Given the description of an element on the screen output the (x, y) to click on. 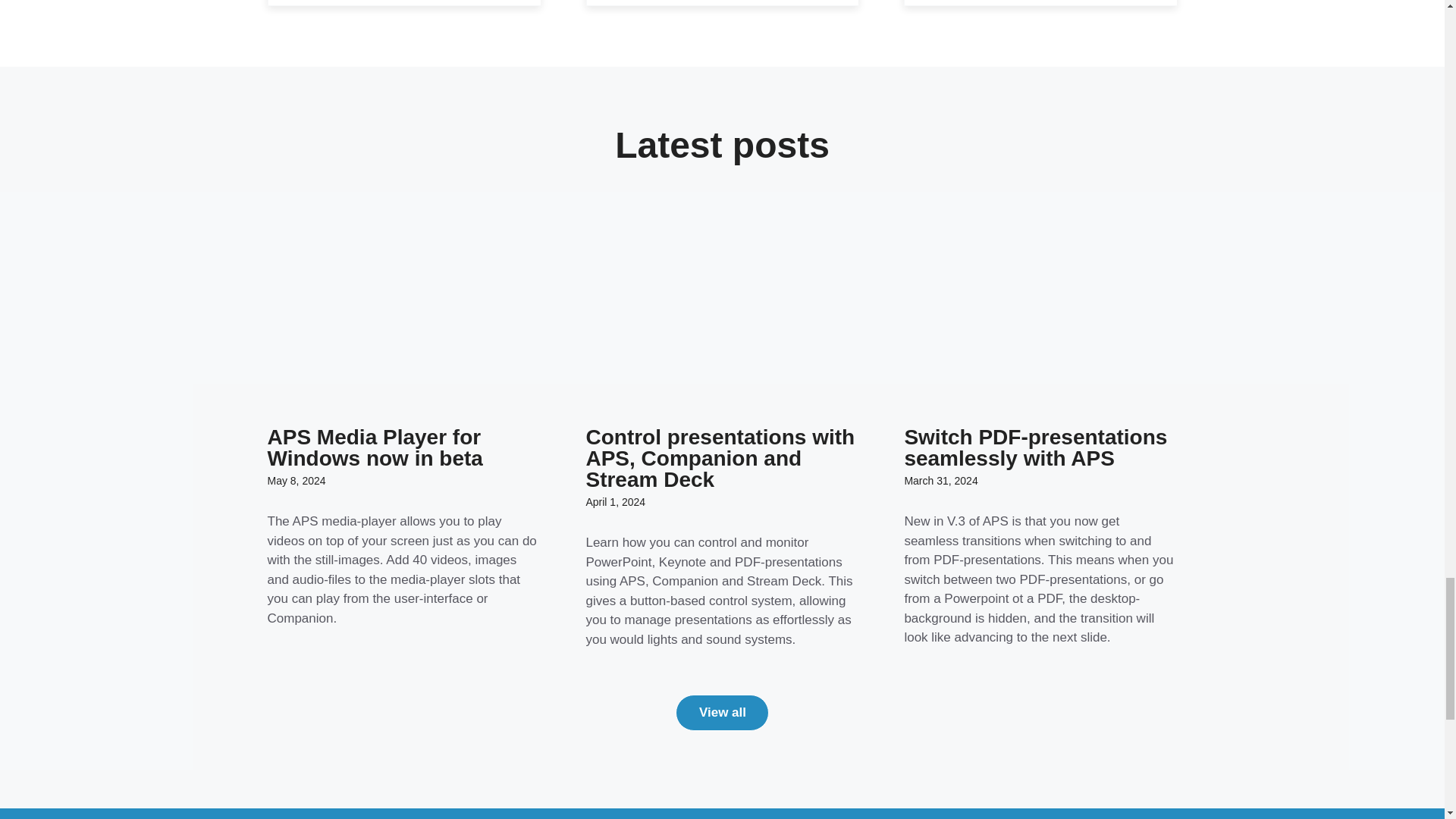
View all (721, 712)
Control presentations with APS, Companion and Stream Deck (719, 458)
Switch PDF-presentations seamlessly with APS (1035, 447)
APS Media Player for Windows now in beta (373, 447)
